Given the description of an element on the screen output the (x, y) to click on. 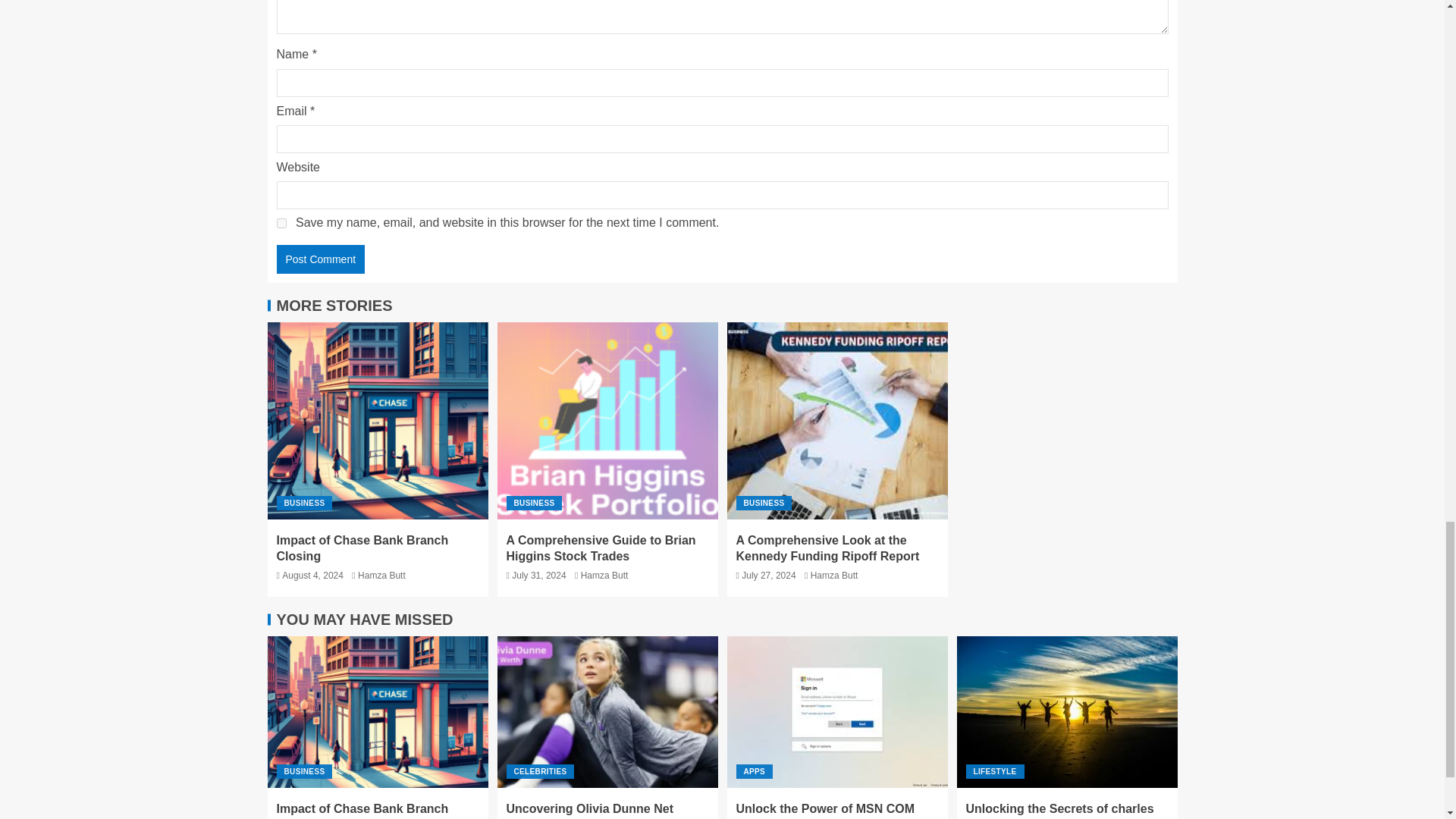
Post Comment (320, 258)
Post Comment (320, 258)
BUSINESS (303, 503)
Hamza Butt (604, 575)
BUSINESS (534, 503)
Hamza Butt (382, 575)
yes (280, 223)
Impact of Chase Bank Branch Closing (362, 547)
A Comprehensive Guide to Brian Higgins Stock Trades (600, 547)
